Given the description of an element on the screen output the (x, y) to click on. 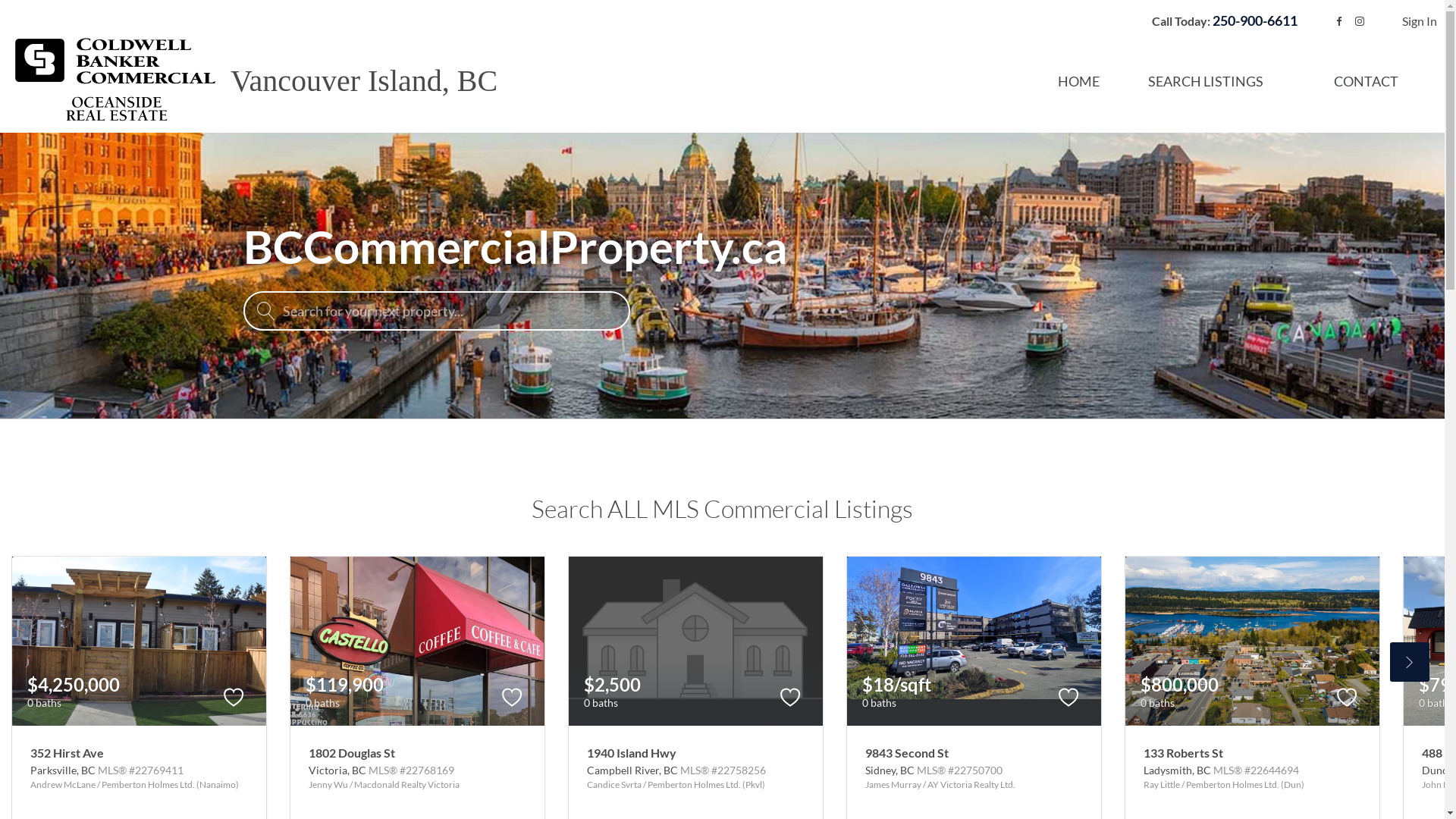
CONTACT Element type: text (1365, 80)
Sign In Element type: text (1419, 21)
HOME Element type: text (1078, 80)
Call Today: 250-900-6611 Element type: text (1222, 21)
